Given the description of an element on the screen output the (x, y) to click on. 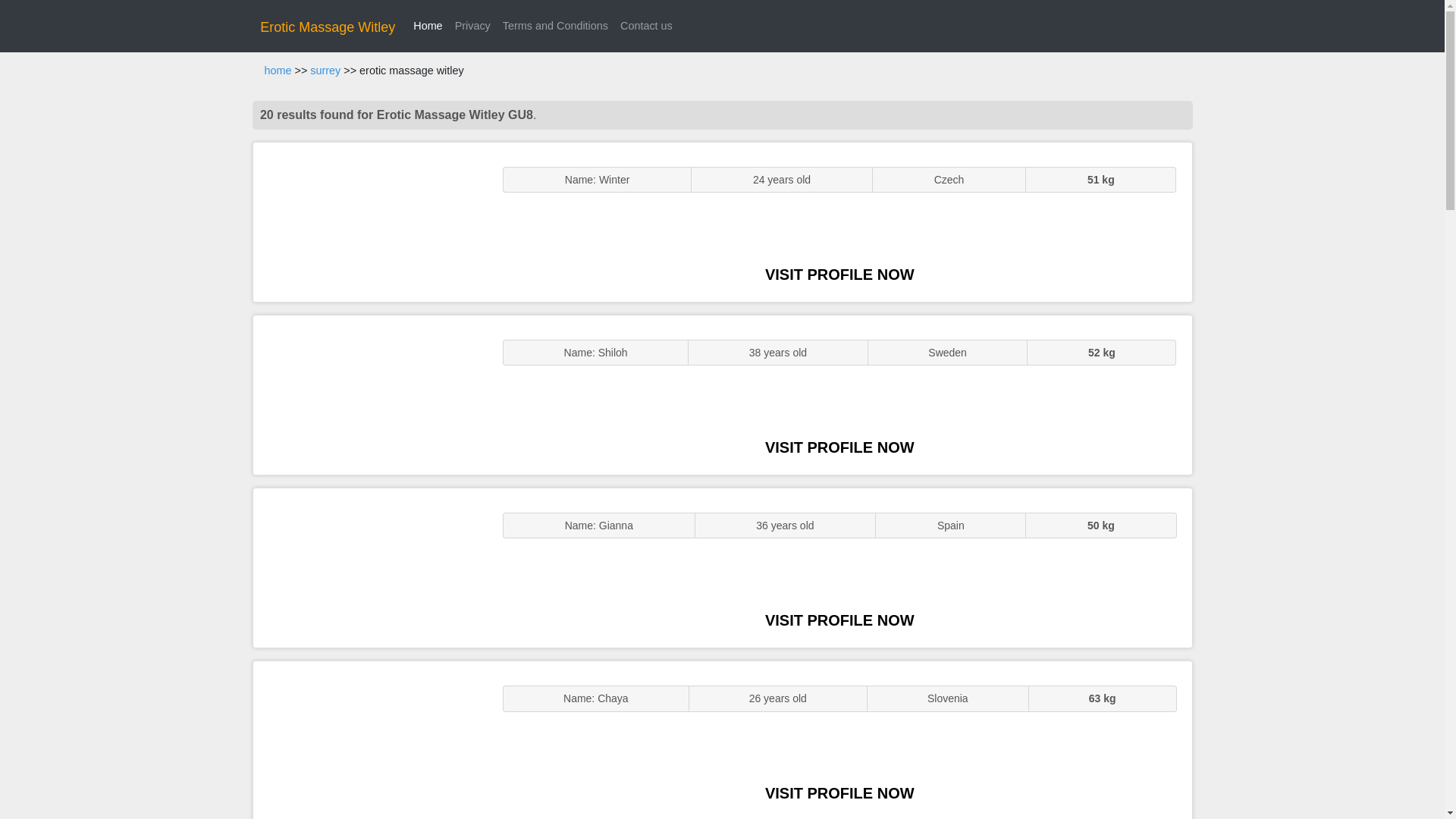
VISIT PROFILE NOW (839, 792)
home (277, 70)
VISIT PROFILE NOW (839, 446)
Erotic Massage Witley (327, 27)
Terms and Conditions (555, 25)
Privacy (472, 25)
Sexy (370, 567)
surrey (325, 70)
Sluts (370, 739)
VISIT PROFILE NOW (839, 274)
Contact us (646, 25)
 ENGLISH STUNNER (370, 222)
GFE (370, 395)
VISIT PROFILE NOW (839, 619)
